Given the description of an element on the screen output the (x, y) to click on. 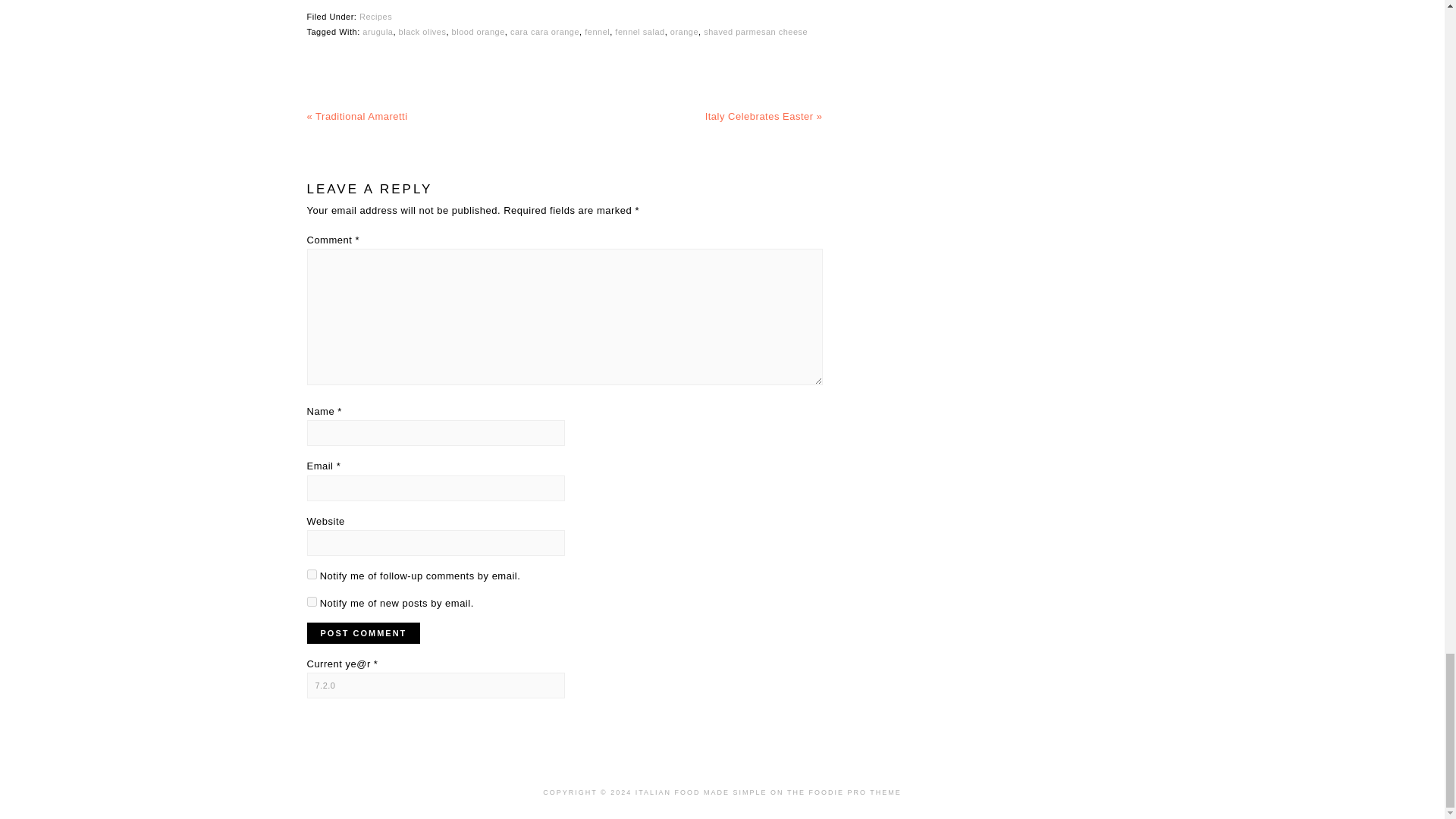
7.2.0 (434, 685)
shaved parmesan cheese (755, 31)
cara cara orange (545, 31)
Post Comment (362, 632)
fennel salad (638, 31)
subscribe (310, 574)
subscribe (310, 601)
orange (683, 31)
fennel (597, 31)
arugula (377, 31)
